Given the description of an element on the screen output the (x, y) to click on. 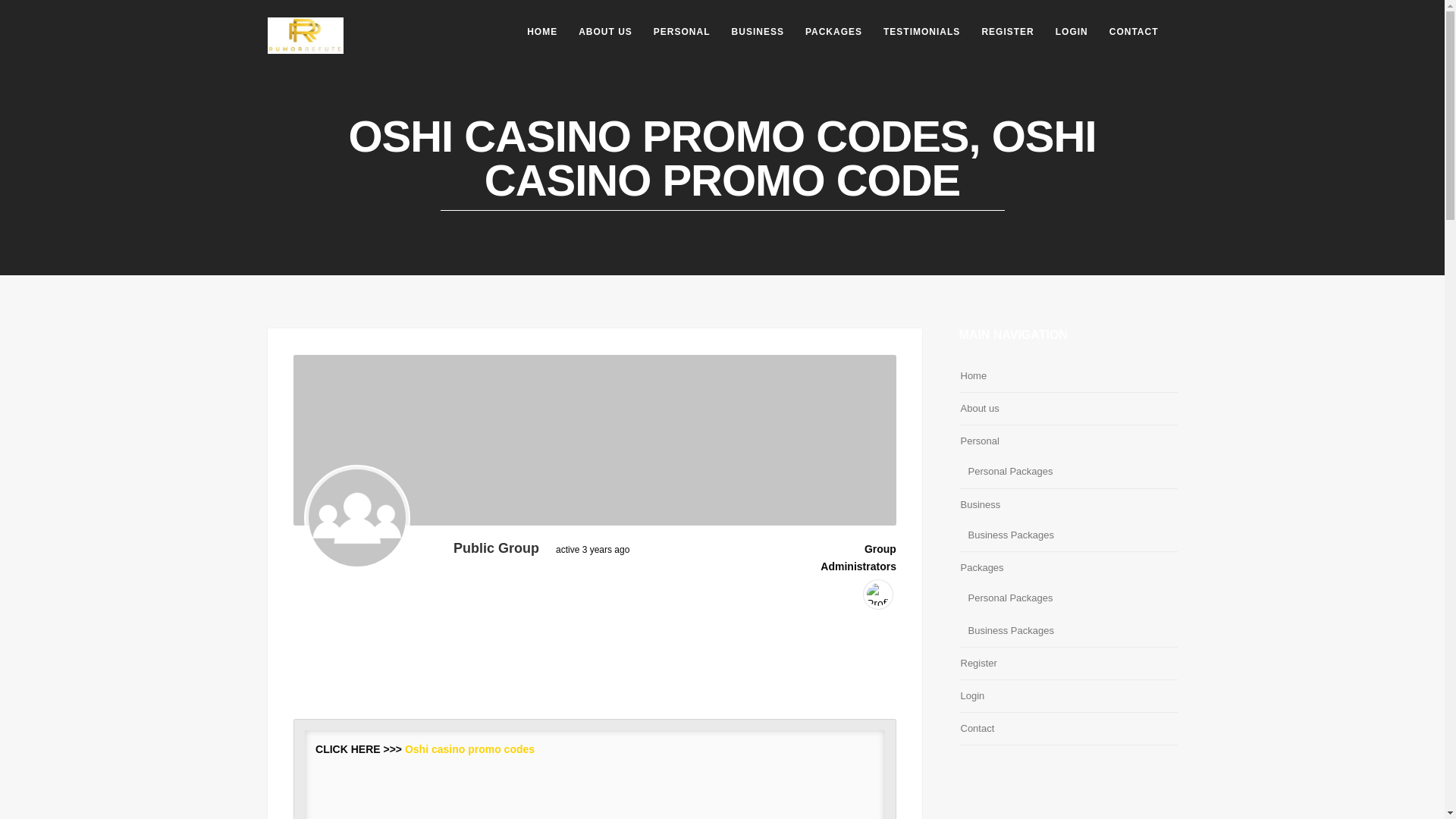
HOME (541, 31)
Business Packages (1010, 534)
CONTACT (1134, 31)
Business (979, 504)
Personal (978, 440)
ABOUT US (605, 31)
Oshi casino promo codes (469, 748)
Contact (976, 728)
REGISTER (1007, 31)
Business Packages (1010, 629)
Register (977, 662)
PERSONAL (681, 31)
Home (973, 375)
BUSINESS (757, 31)
TESTIMONIALS (921, 31)
